Given the description of an element on the screen output the (x, y) to click on. 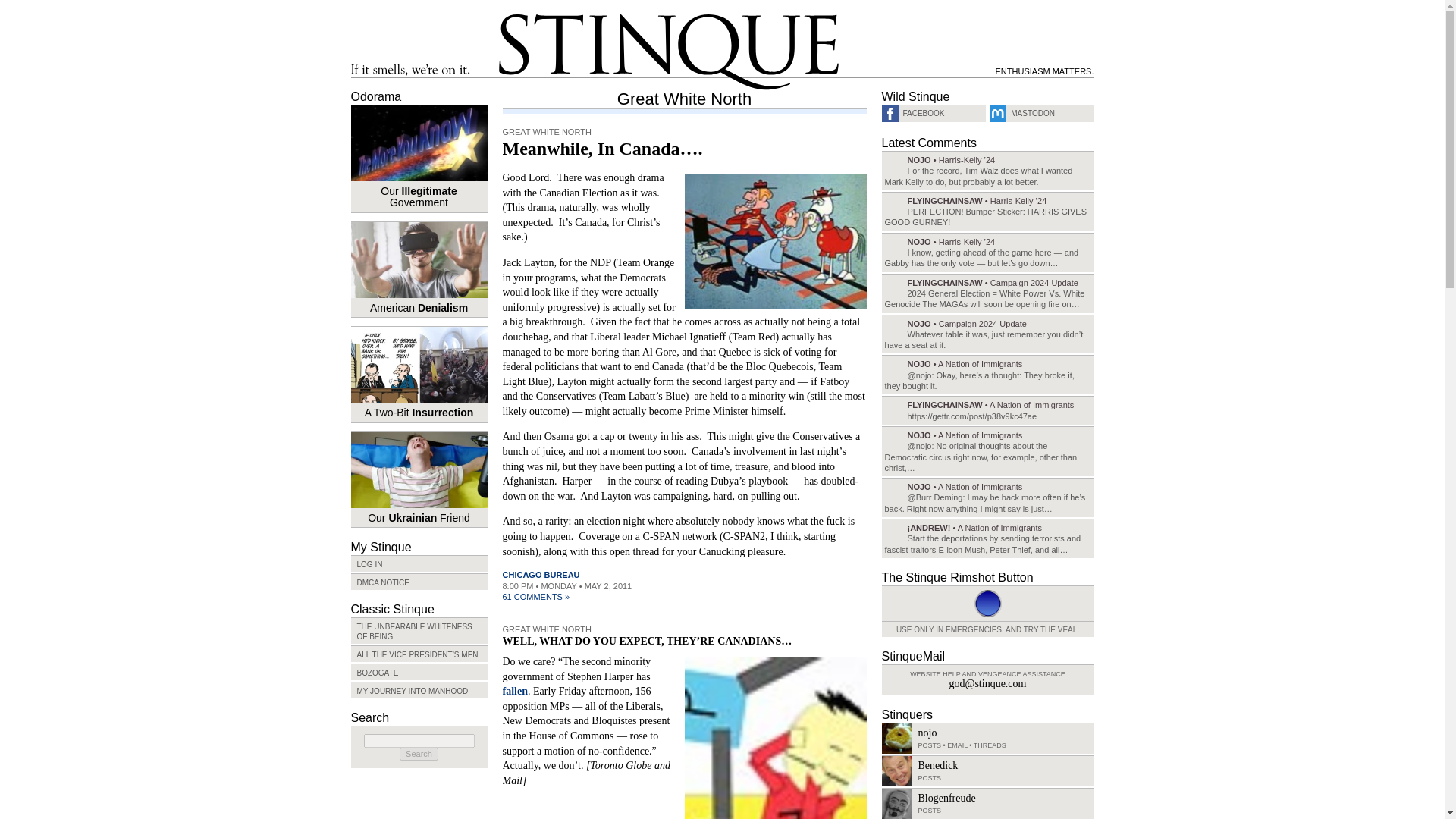
Rrrrrrrip! (775, 736)
Search (418, 753)
fallen (514, 690)
Search (1410, 141)
CHICAGO BUREAU (540, 574)
GREAT WHITE NORTH (546, 628)
GREAT WHITE NORTH (546, 131)
Posts by chicago bureau (540, 574)
Stinque (669, 52)
